Given the description of an element on the screen output the (x, y) to click on. 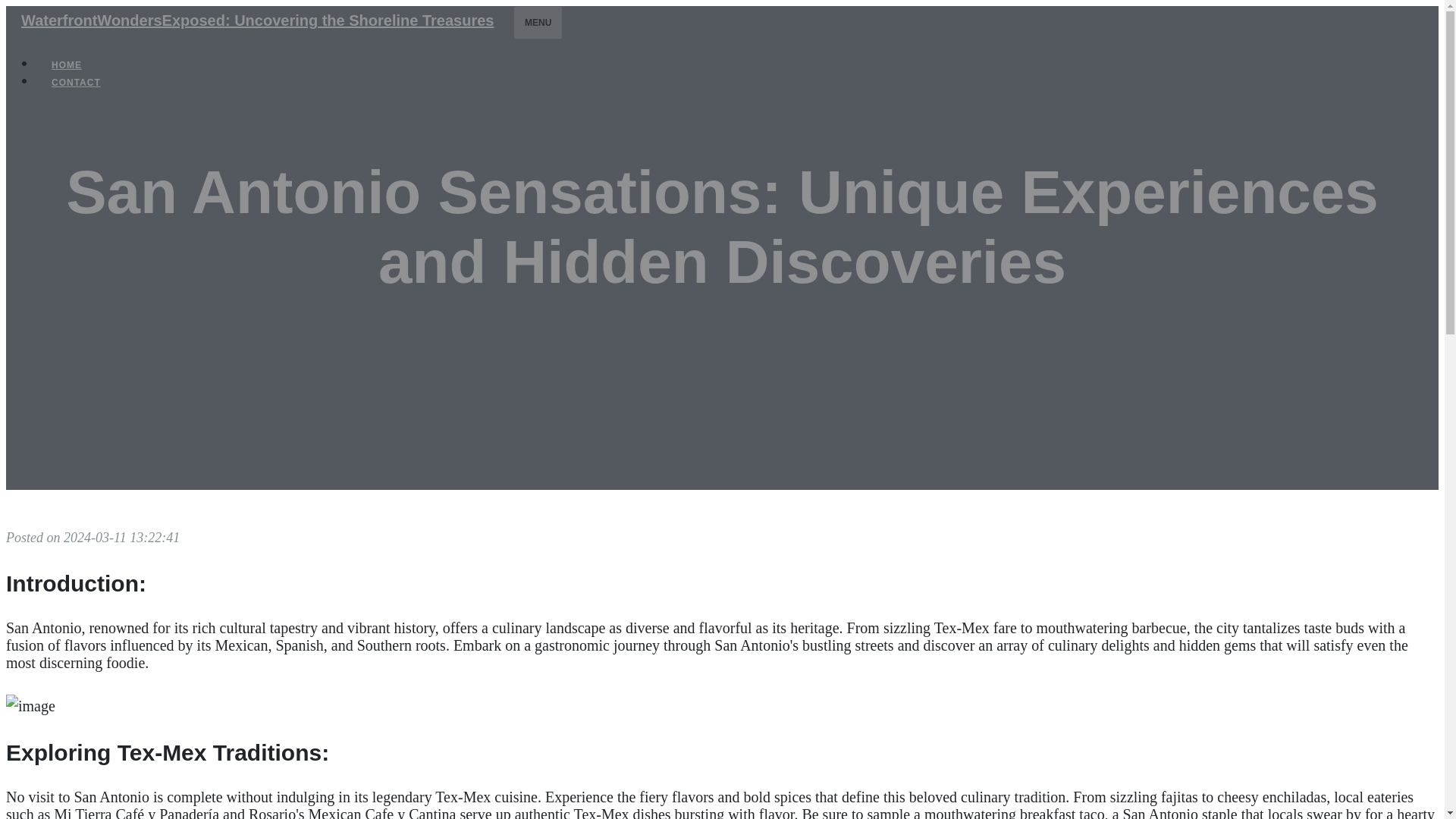
WaterfrontWondersExposed: Uncovering the Shoreline Treasures (256, 20)
CONTACT (76, 82)
MENU (537, 22)
HOME (66, 64)
